Given the description of an element on the screen output the (x, y) to click on. 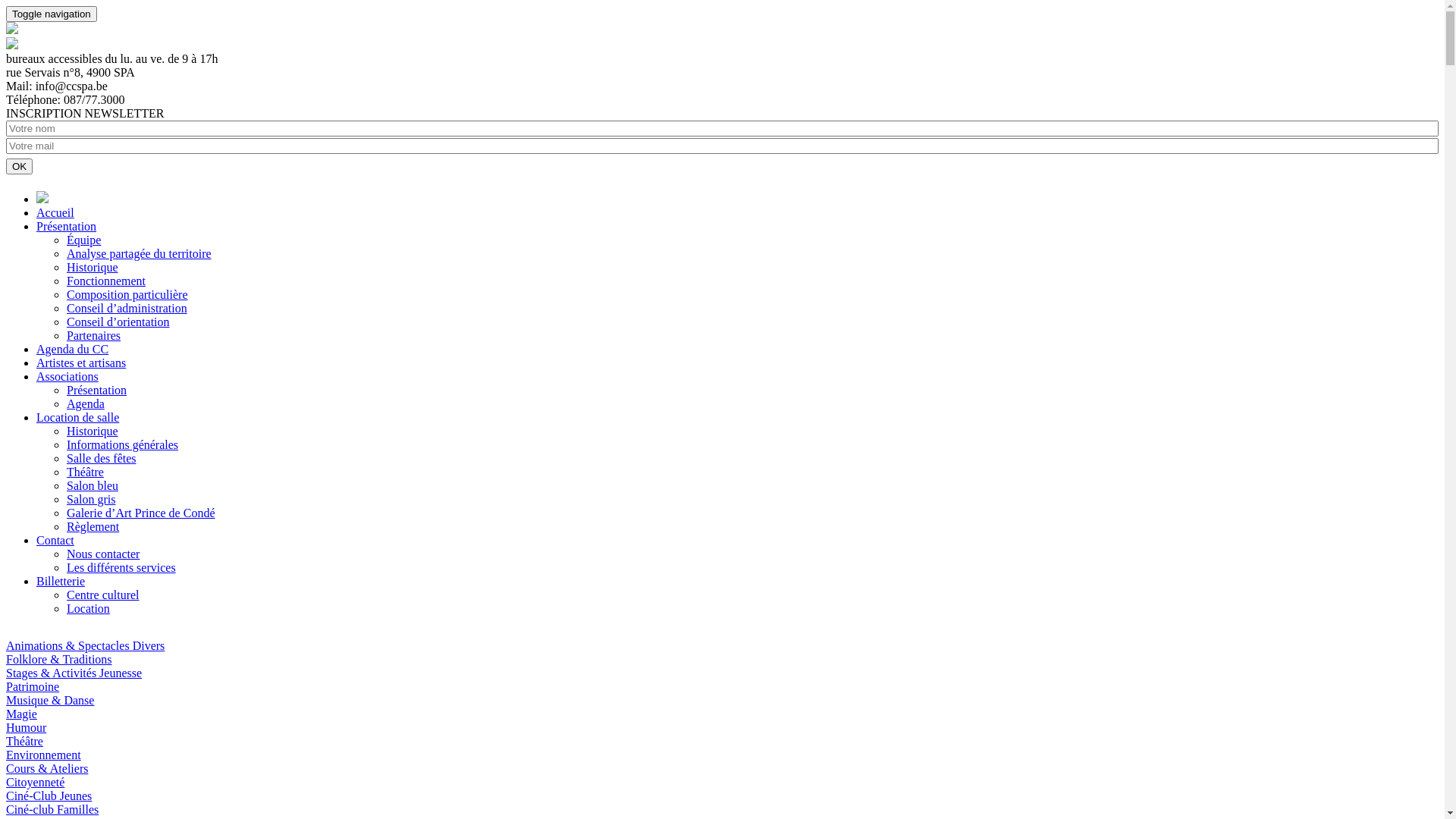
Magie Element type: text (21, 713)
Associations Element type: text (67, 376)
Agenda Element type: text (85, 403)
Nous contacter Element type: text (102, 553)
Animations & Spectacles Divers Element type: text (85, 645)
Billetterie Element type: text (60, 580)
Historique Element type: text (92, 430)
Historique Element type: text (92, 266)
OK Element type: text (19, 166)
Contact Element type: text (55, 539)
Partenaires Element type: text (93, 335)
Patrimoine Element type: text (32, 686)
Fonctionnement Element type: text (105, 280)
Toggle navigation Element type: text (51, 13)
Musique & Danse Element type: text (50, 699)
Location Element type: text (87, 608)
Agenda du CC Element type: text (72, 348)
Cours & Ateliers Element type: text (46, 768)
CENTRE CULTUREL SPA-JALHAY-STOUMONT Element type: hover (12, 29)
Accueil Element type: text (55, 212)
Location de salle Element type: text (77, 417)
Artistes et artisans Element type: text (80, 362)
Salon bleu Element type: text (92, 485)
Humour Element type: text (26, 727)
Salon gris Element type: text (90, 498)
Environnement Element type: text (43, 754)
Folklore & Traditions Element type: text (59, 658)
Centre culturel Element type: text (102, 594)
